Given the description of an element on the screen output the (x, y) to click on. 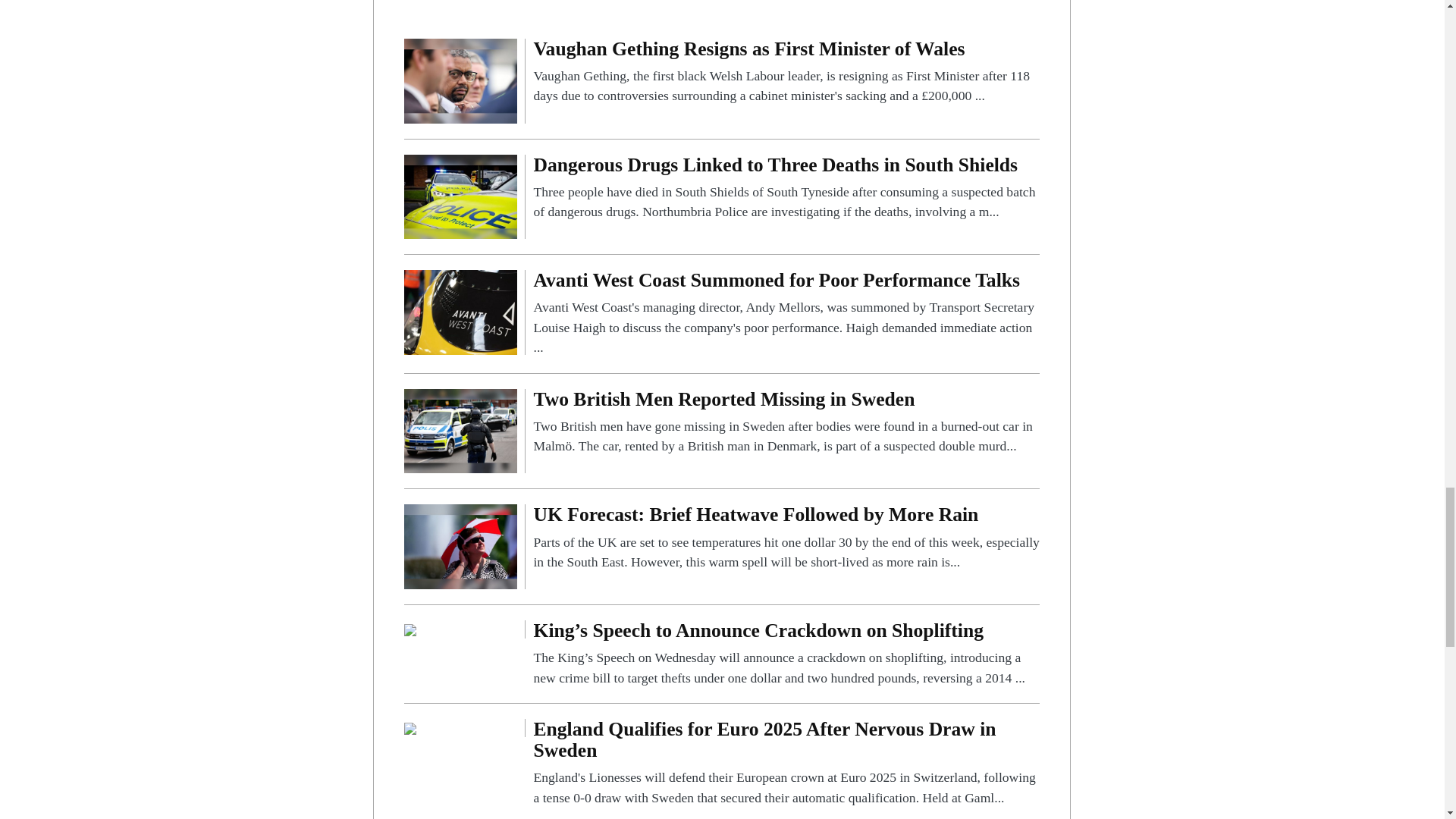
England Qualifies for Euro 2025 After Nervous Draw in Sweden (410, 727)
England Qualifies for Euro 2025 After Nervous Draw in Sweden (785, 763)
Avanti West Coast Summoned for Poor Performance Talks (785, 313)
Vaughan Gething Resigns as First Minister of Wales (460, 79)
Two British Men Reported Missing in Sweden (460, 430)
Avanti West Coast Summoned for Poor Performance Talks (460, 310)
Dangerous Drugs Linked to Three Deaths in South Shields (785, 187)
UK Forecast: Brief Heatwave Followed by More Rain (785, 537)
Dangerous Drugs Linked to Three Deaths in South Shields (460, 195)
UK Forecast: Brief Heatwave Followed by More Rain (460, 545)
Vaughan Gething Resigns as First Minister of Wales (785, 72)
